Given the description of an element on the screen output the (x, y) to click on. 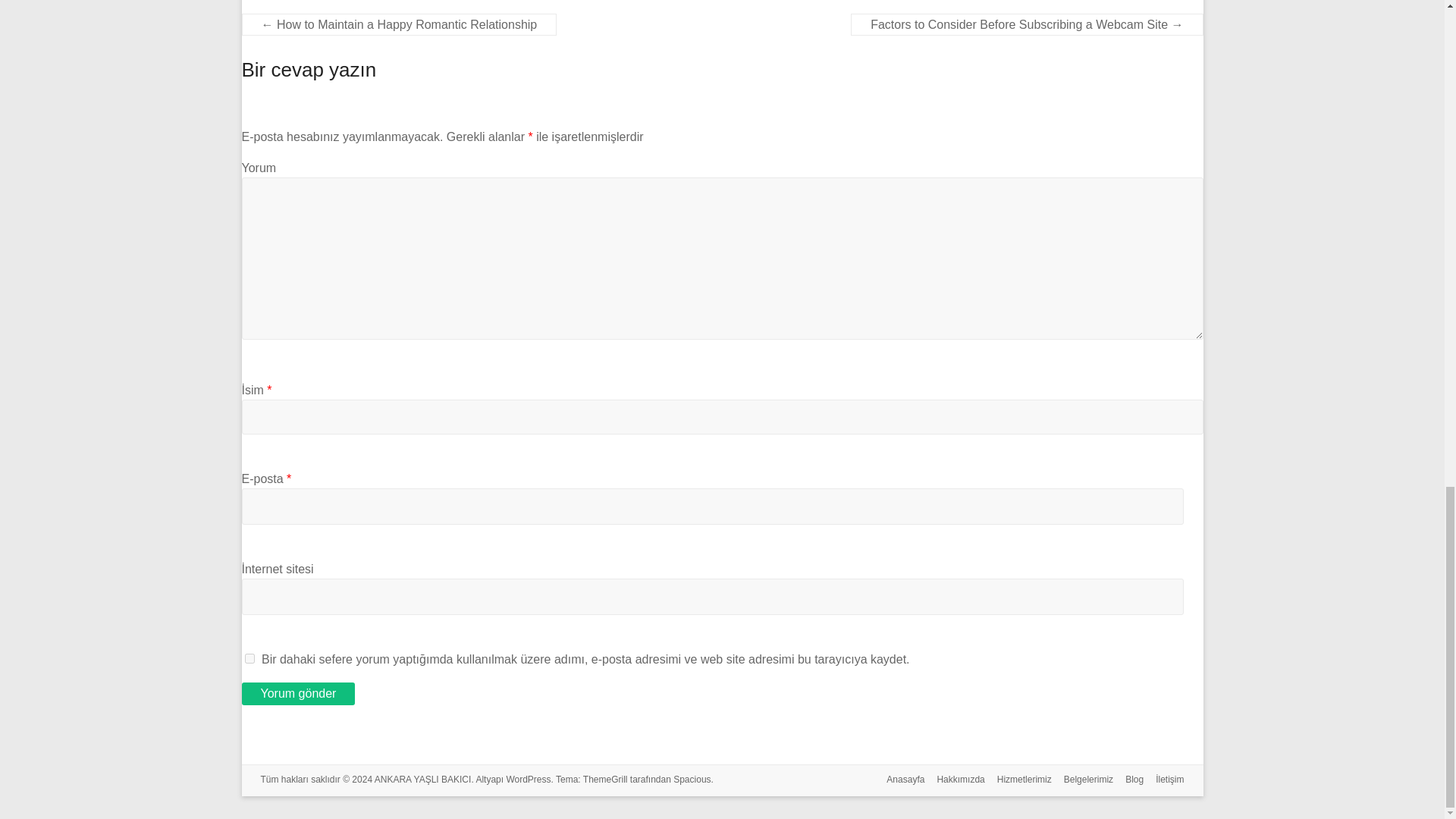
ThemeGrill (605, 778)
Blog (1127, 780)
WordPress (527, 778)
ThemeGrill (605, 778)
Belgelerimiz (1082, 780)
yes (248, 658)
WordPress (527, 778)
Hizmetlerimiz (1018, 780)
Anasayfa (899, 780)
